Given the description of an element on the screen output the (x, y) to click on. 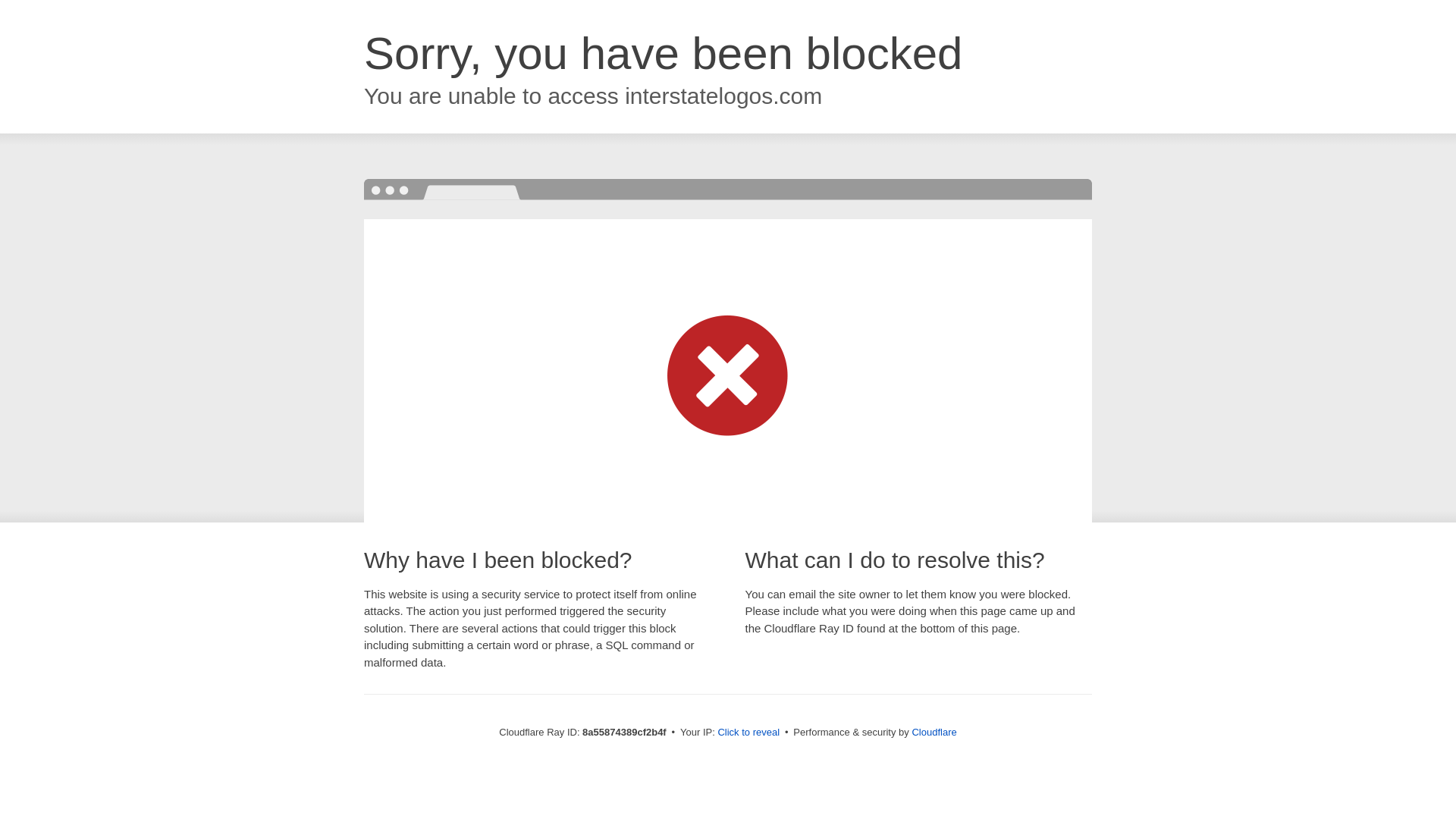
Cloudflare (933, 731)
Click to reveal (747, 732)
